Given the description of an element on the screen output the (x, y) to click on. 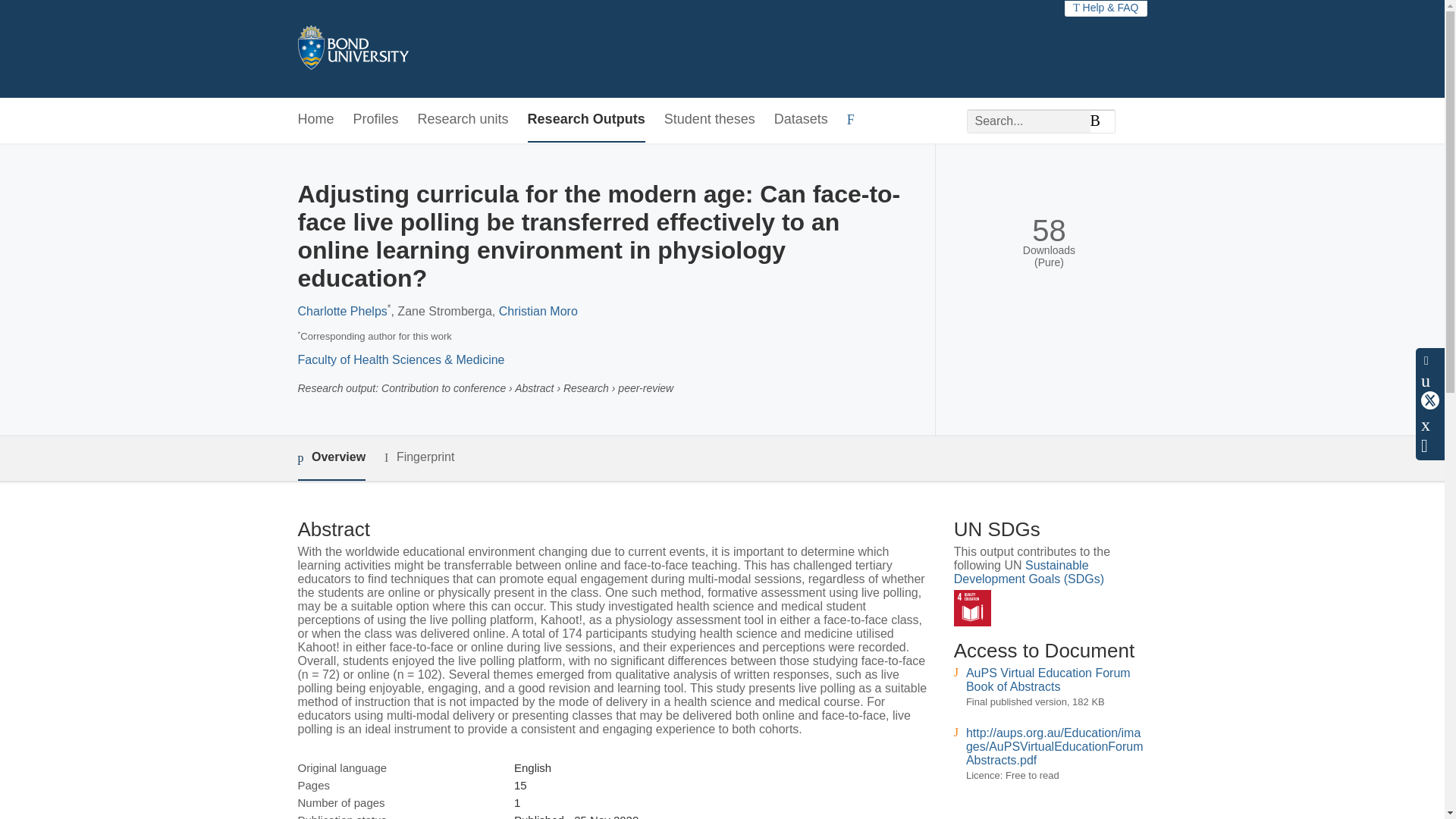
Research Outputs (586, 119)
Overview (331, 457)
Fingerprint (419, 457)
Profiles (375, 119)
Christian Moro (538, 310)
Student theses (709, 119)
AuPS Virtual Education Forum Book of Abstracts (1048, 679)
Bond University Research Portal Home (352, 48)
SDG 4 - Quality Education (972, 608)
Datasets (801, 119)
Research units (462, 119)
Charlotte Phelps (342, 310)
